Given the description of an element on the screen output the (x, y) to click on. 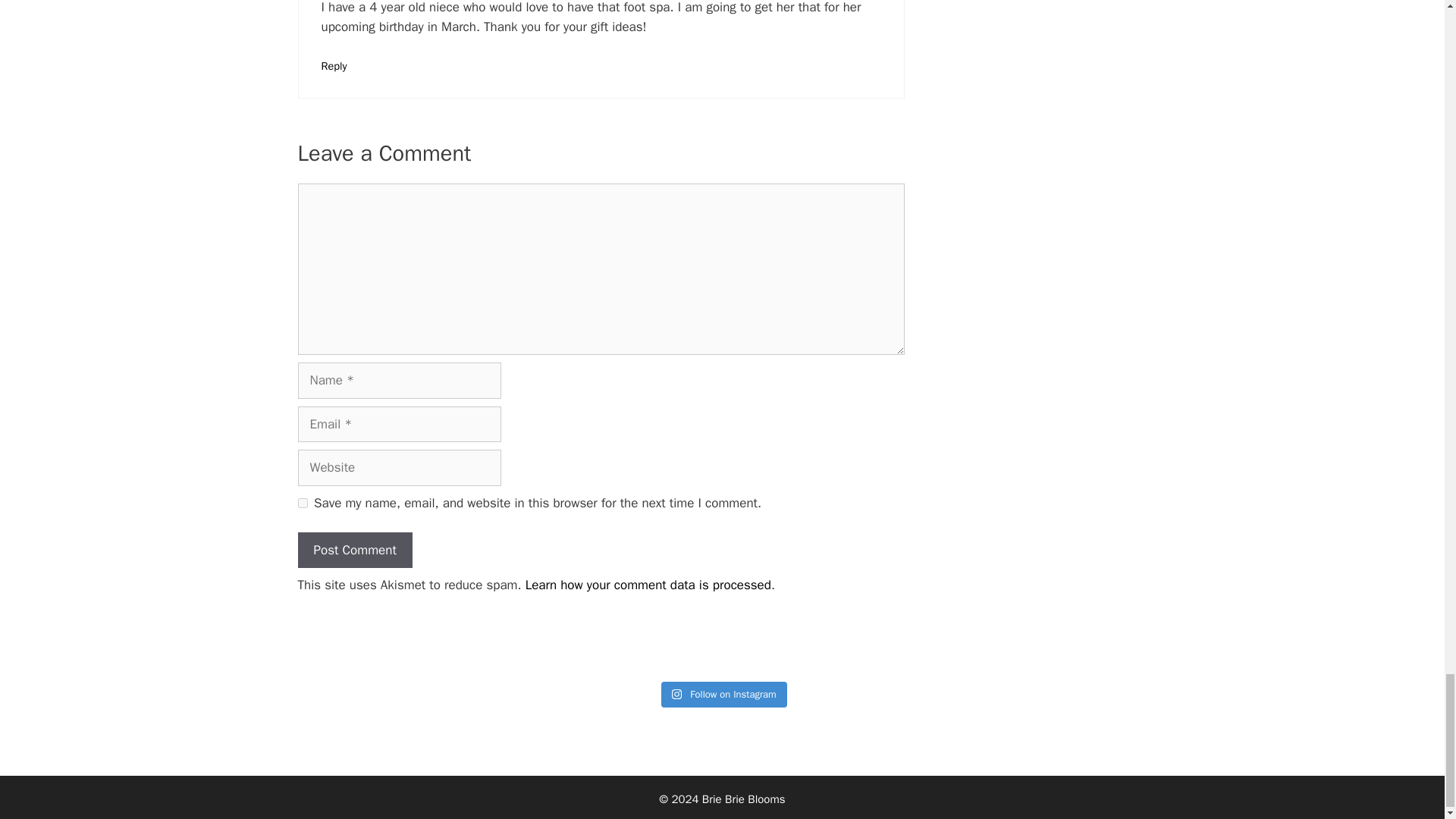
yes (302, 502)
Post Comment (354, 550)
